Given the description of an element on the screen output the (x, y) to click on. 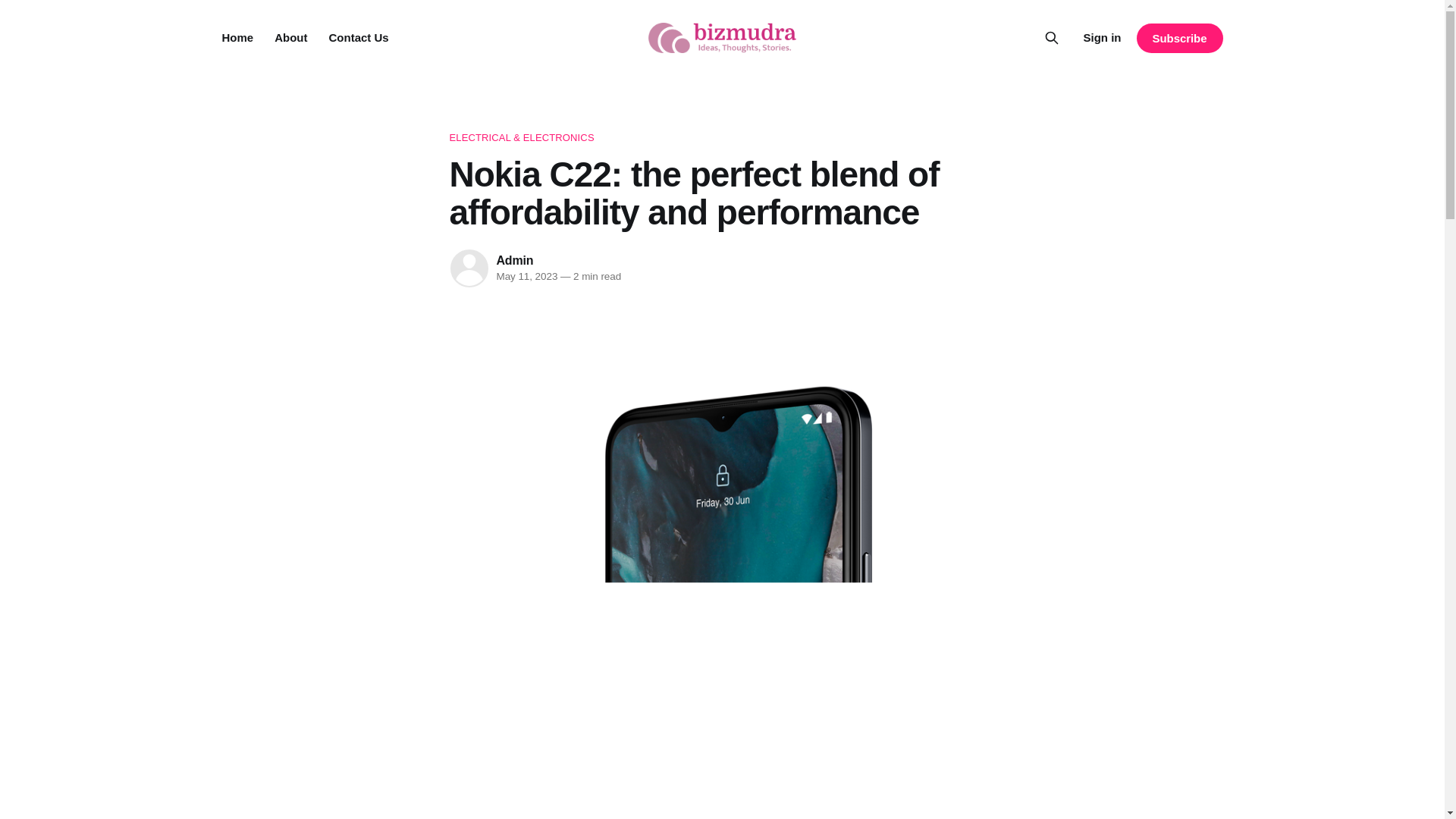
Contact Us (358, 37)
Subscribe (1179, 37)
Admin (514, 259)
About (291, 37)
Home (237, 37)
Sign in (1102, 37)
